Given the description of an element on the screen output the (x, y) to click on. 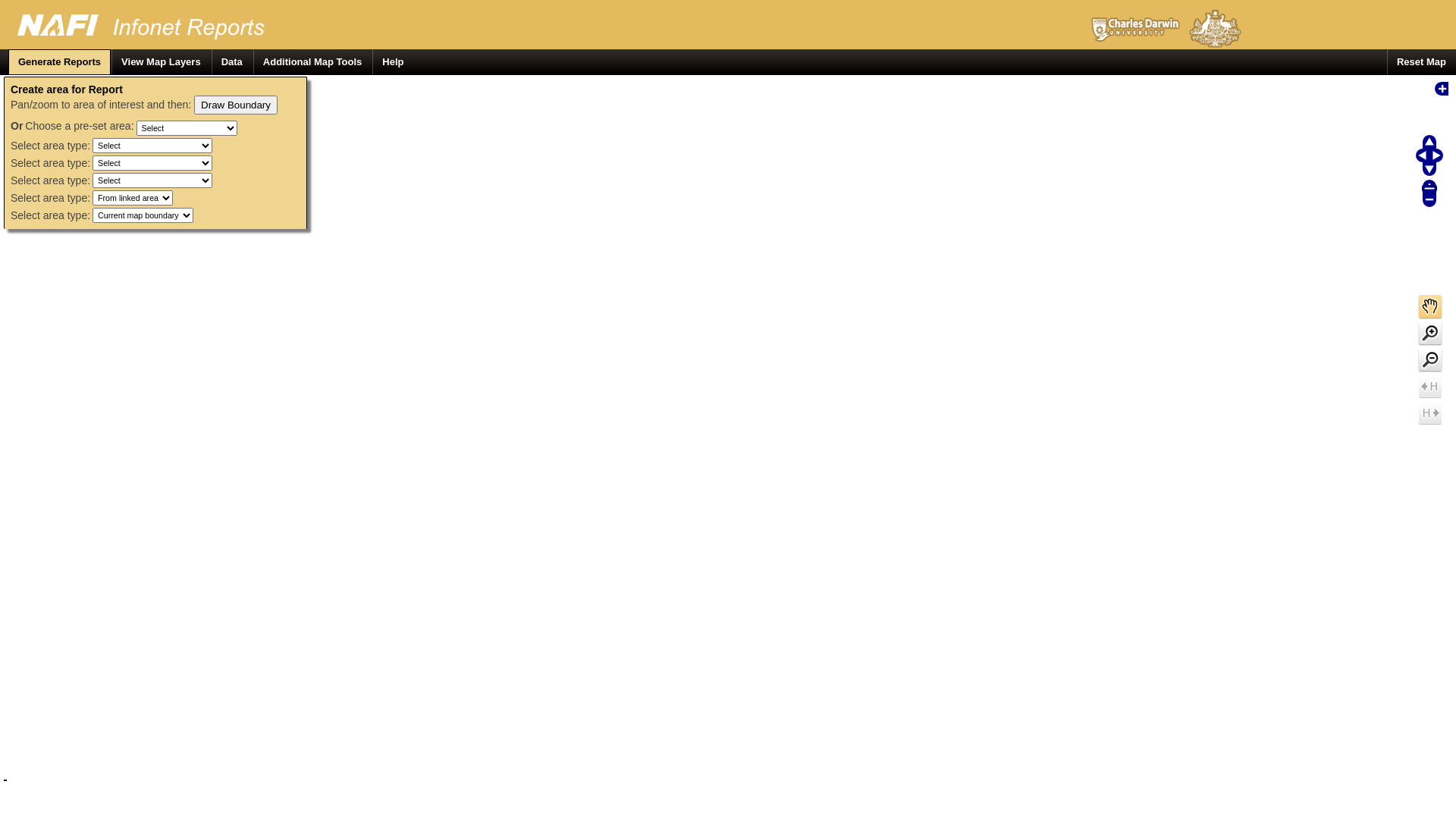
Draw Boundary Element type: text (235, 104)
Navigate to area on map by clicking and dragging. Element type: hover (1431, 307)
Generate Reports Element type: text (59, 61)
View Map Layers Element type: text (160, 61)
Navigate to previous screen Element type: hover (1431, 387)
Additional Map Tools Element type: text (312, 61)
Data Element type: text (231, 61)
Help Element type: text (392, 61)
zoom out map by clicking and dragging. Element type: hover (1431, 361)
zoom in an area by clicking and dragging. Element type: hover (1431, 334)
Navigate to next screen Element type: hover (1431, 414)
